Given the description of an element on the screen output the (x, y) to click on. 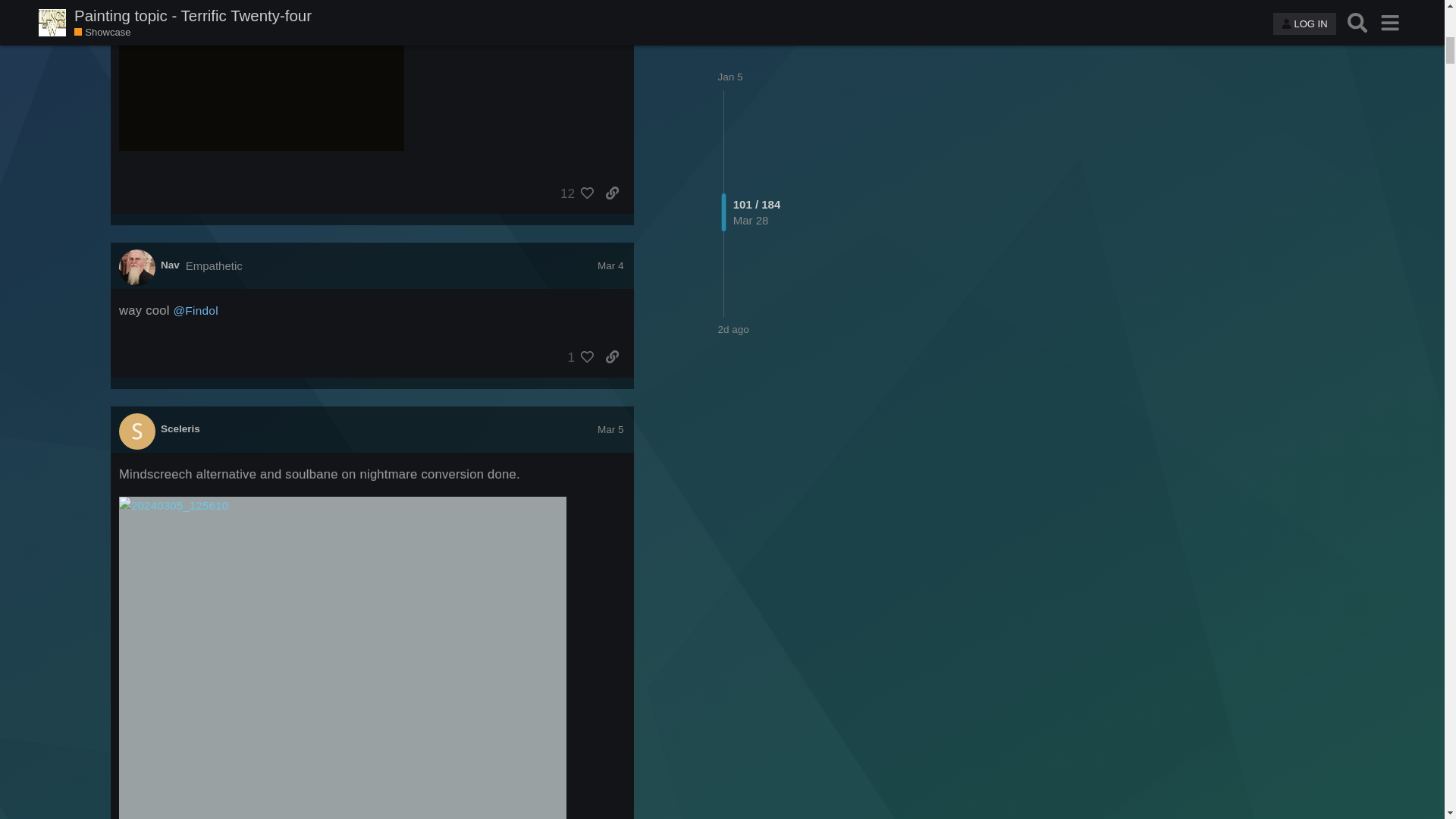
12 (573, 193)
1 person liked this post (577, 356)
copy a link to this post to clipboard (612, 193)
Post date (610, 265)
1 (577, 356)
Nav (169, 265)
1000007421 (261, 75)
Mar 5 (610, 429)
Sceleris (180, 429)
Mar 4 (610, 265)
12 people liked this post (573, 193)
copy a link to this post to clipboard (612, 356)
